Given the description of an element on the screen output the (x, y) to click on. 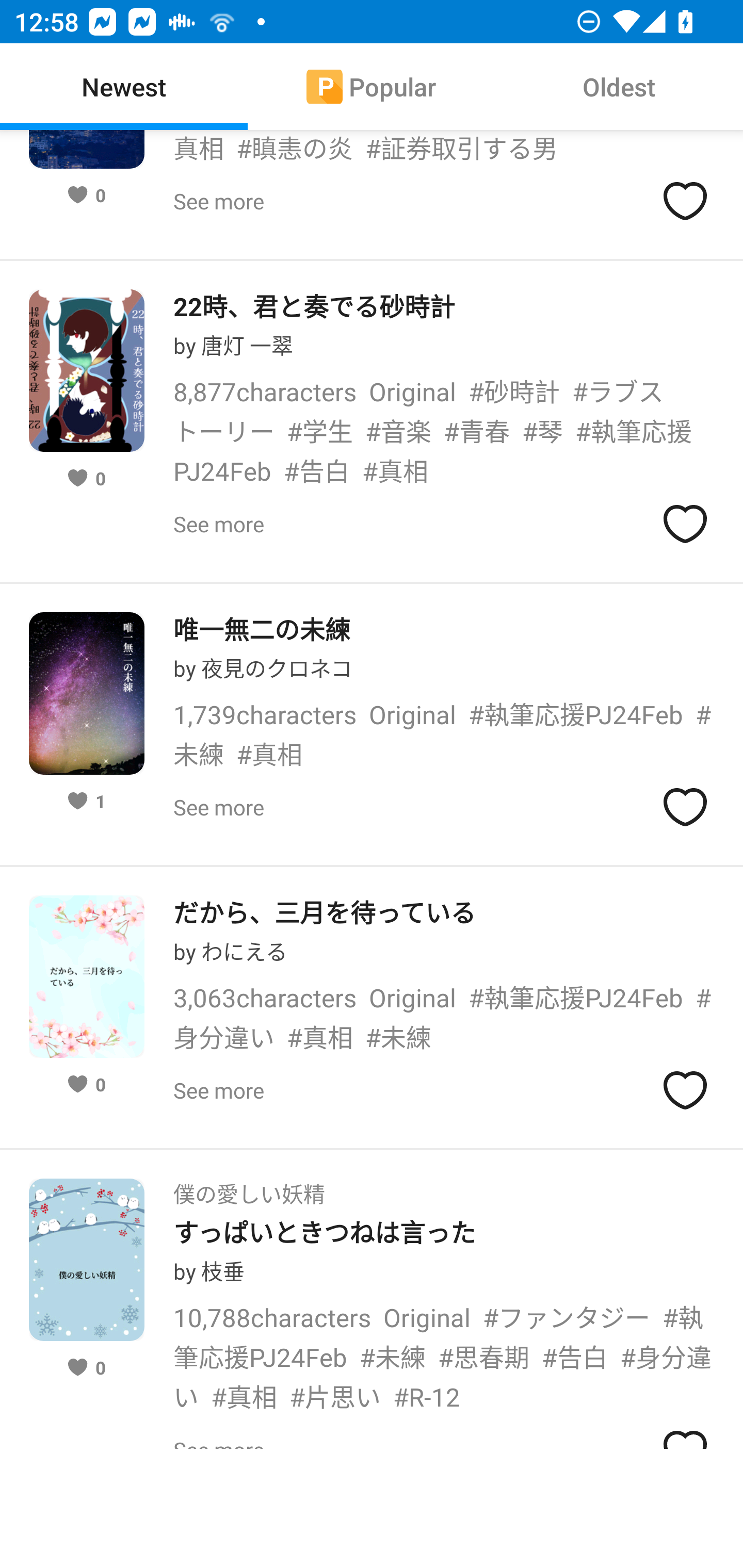
[P] Popular (371, 86)
Oldest (619, 86)
僕の愛しい妖精 (248, 1187)
